Given the description of an element on the screen output the (x, y) to click on. 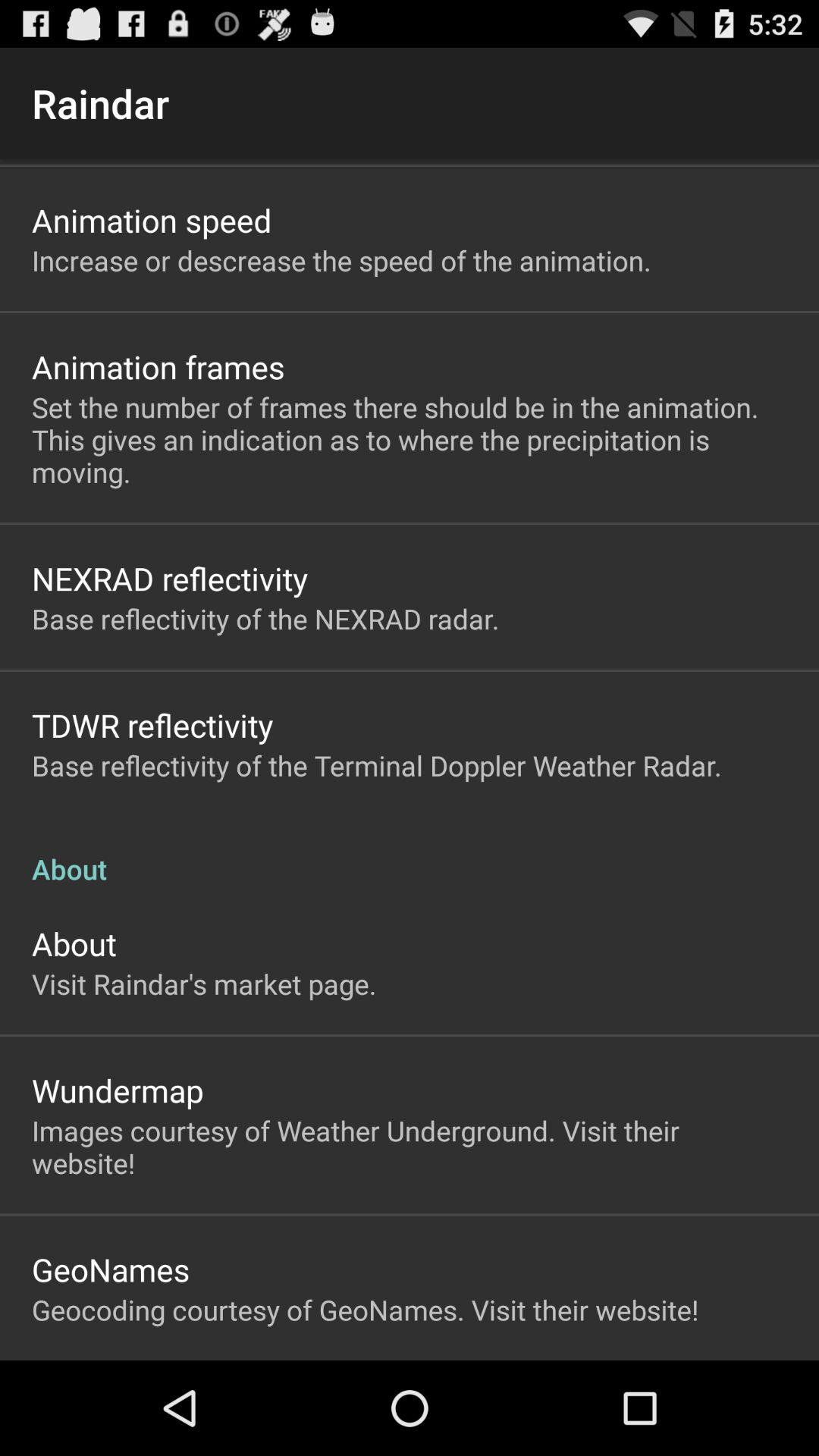
tap the set the number item (409, 439)
